Given the description of an element on the screen output the (x, y) to click on. 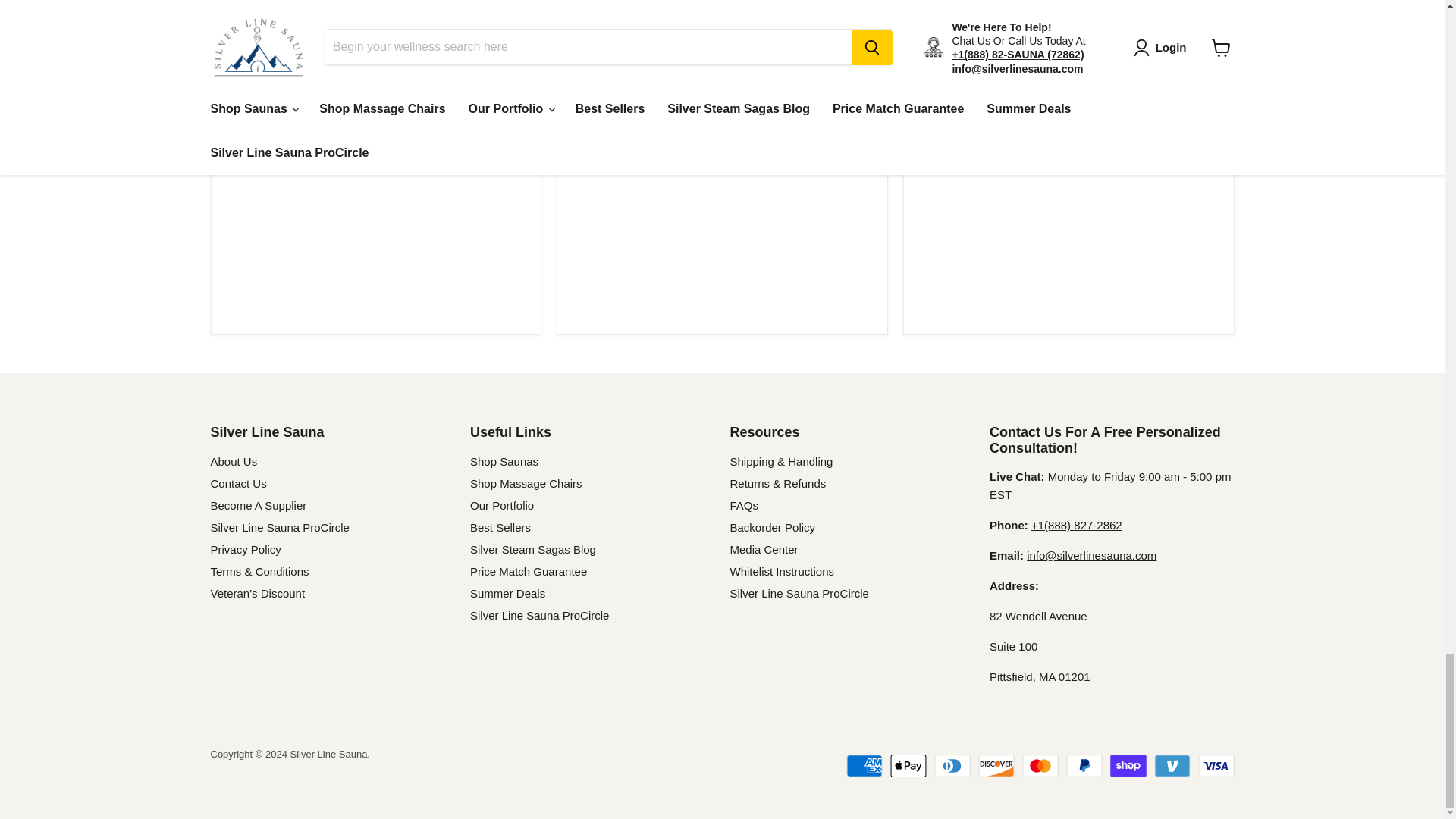
American Express (863, 765)
Diners Club (952, 765)
Apple Pay (907, 765)
